Given the description of an element on the screen output the (x, y) to click on. 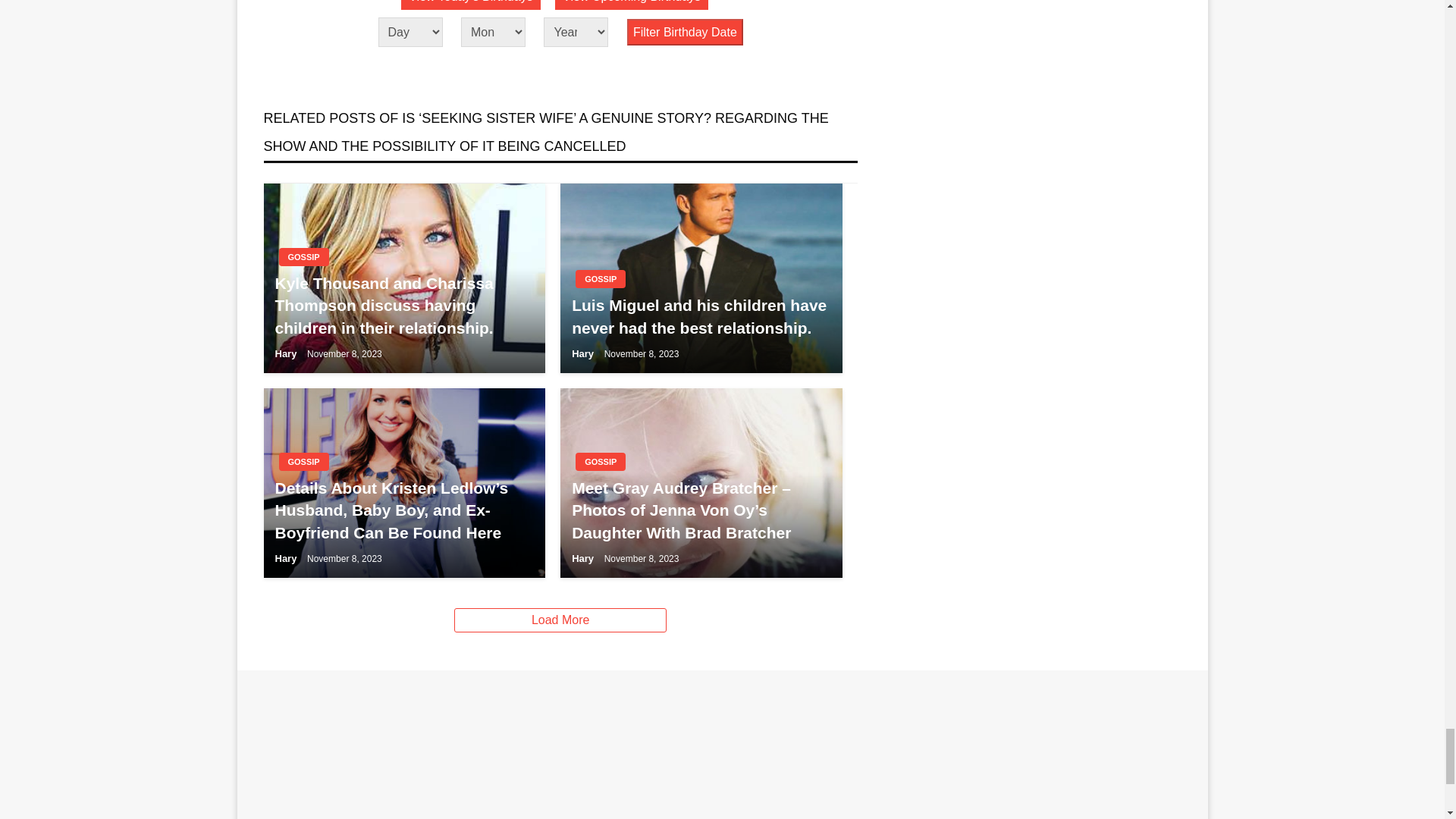
Filter Birthday Date (684, 31)
